Given the description of an element on the screen output the (x, y) to click on. 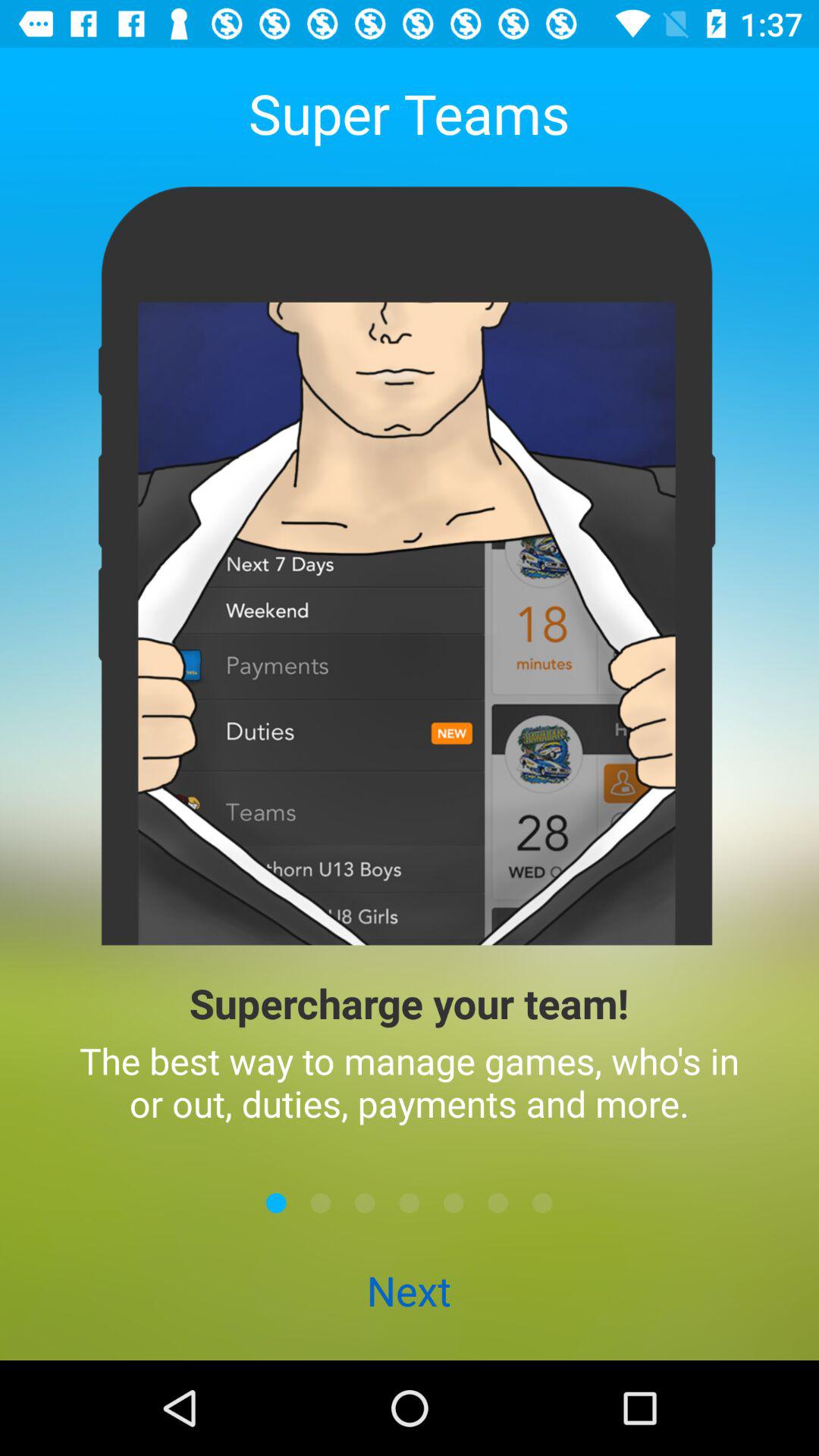
swipe tab (276, 1203)
